Given the description of an element on the screen output the (x, y) to click on. 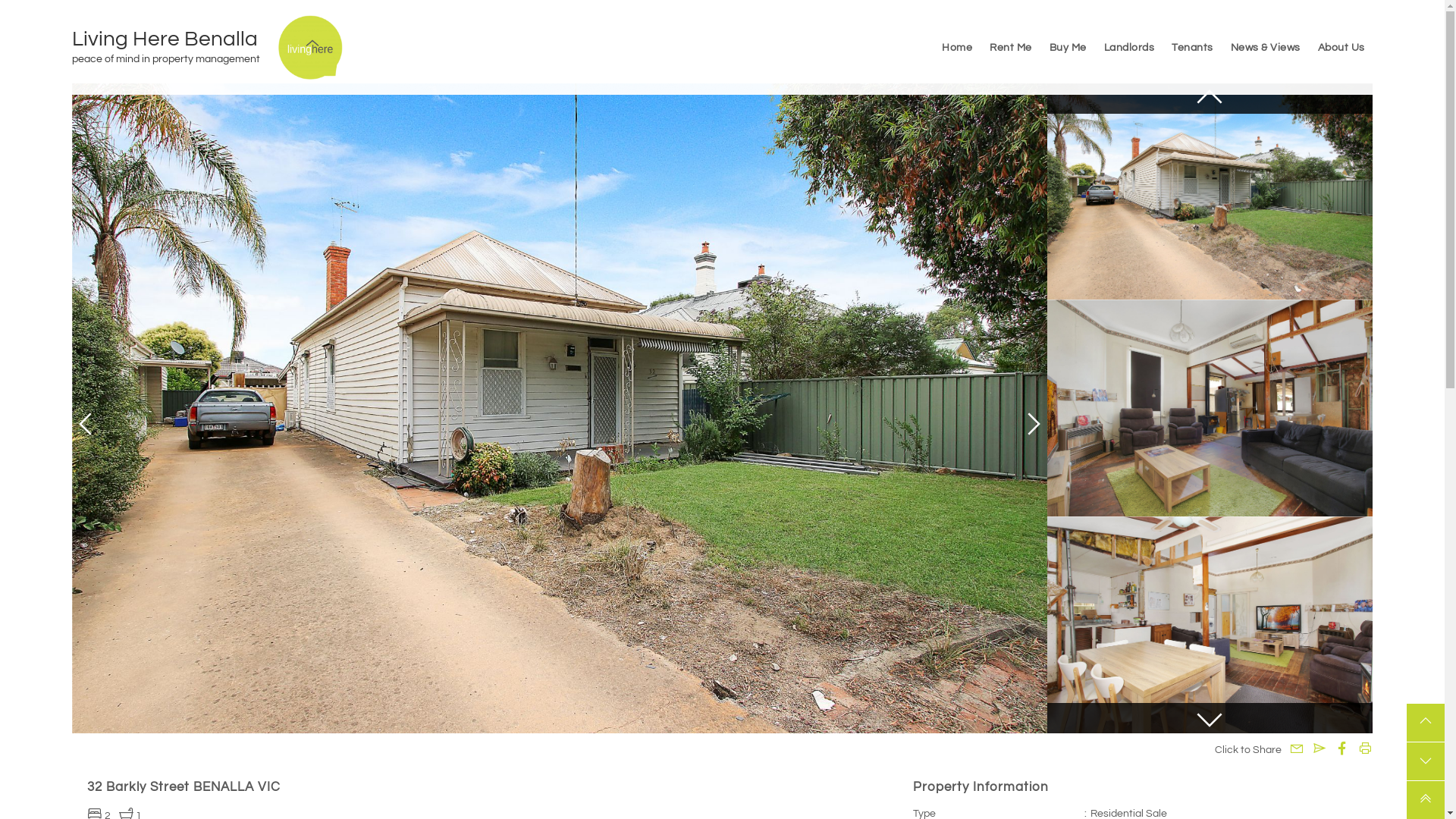
About Us Element type: text (1341, 46)
Rent Me Element type: text (1010, 46)
Home Element type: text (956, 46)
Email to Agent Element type: hover (1296, 748)
Email to Friend Element type: hover (1319, 748)
Buy Me Element type: text (1067, 46)
News & Views Element type: text (1265, 46)
Landlords Element type: text (1129, 46)
Living Here Benalla
peace of mind in property management Element type: text (175, 47)
Tenants Element type: text (1192, 46)
